Given the description of an element on the screen output the (x, y) to click on. 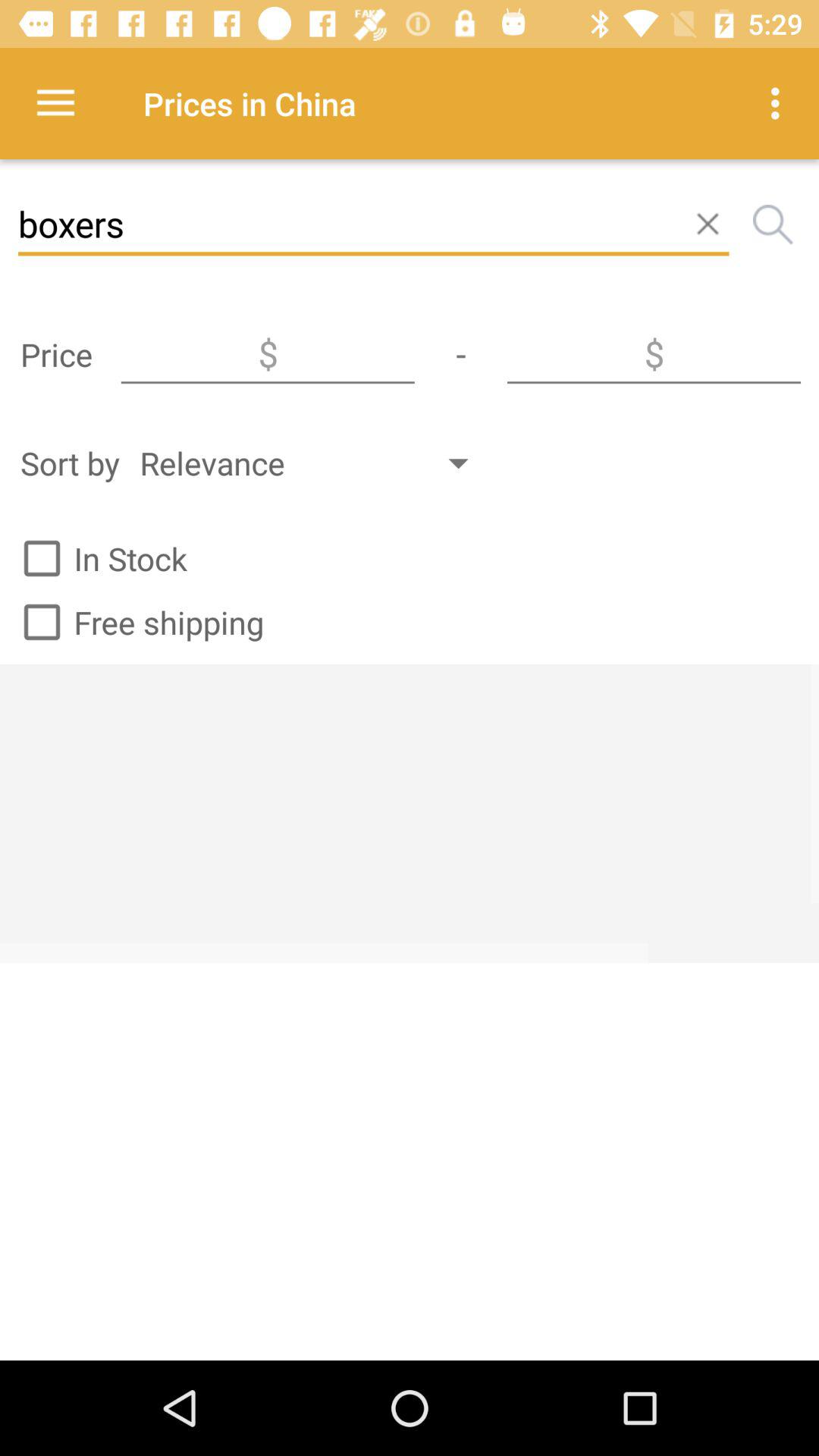
open item above the boxers item (55, 103)
